Given the description of an element on the screen output the (x, y) to click on. 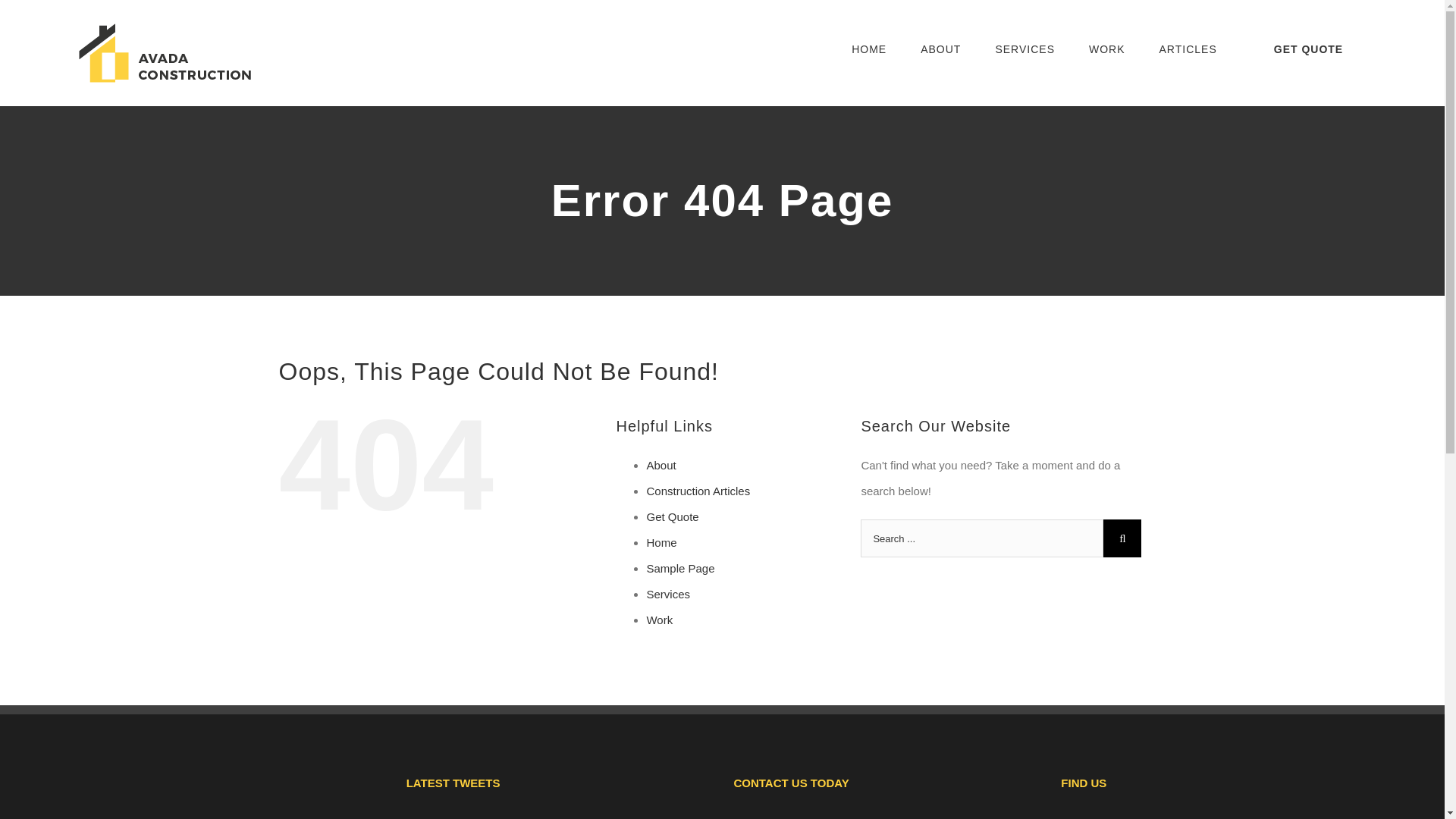
GET QUOTE (1307, 49)
Services (668, 594)
Construction Articles (697, 490)
Home (661, 542)
Work (659, 619)
Sample Page (680, 567)
About (660, 464)
Get Quote (672, 516)
